Given the description of an element on the screen output the (x, y) to click on. 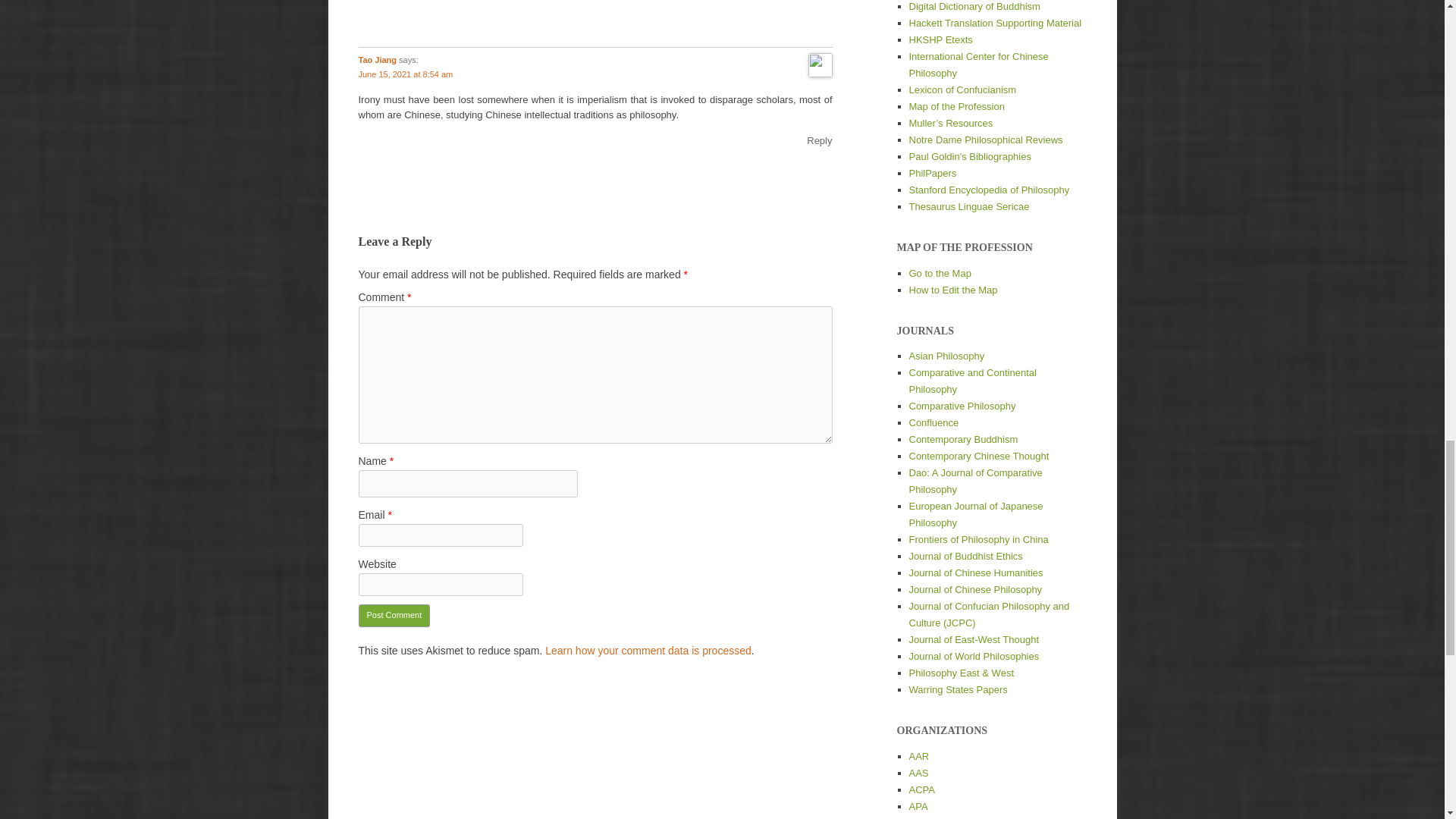
Chinese Philosophy: Map of the Profession (956, 106)
June 15, 2021 at 8:54 am (405, 73)
Tao Jiang (377, 59)
American Academy of Religion (918, 756)
Post Comment (393, 615)
Reply (818, 140)
Learn how your comment data is processed (647, 650)
Contemporary Chinese scholarship in English (975, 572)
